Given the description of an element on the screen output the (x, y) to click on. 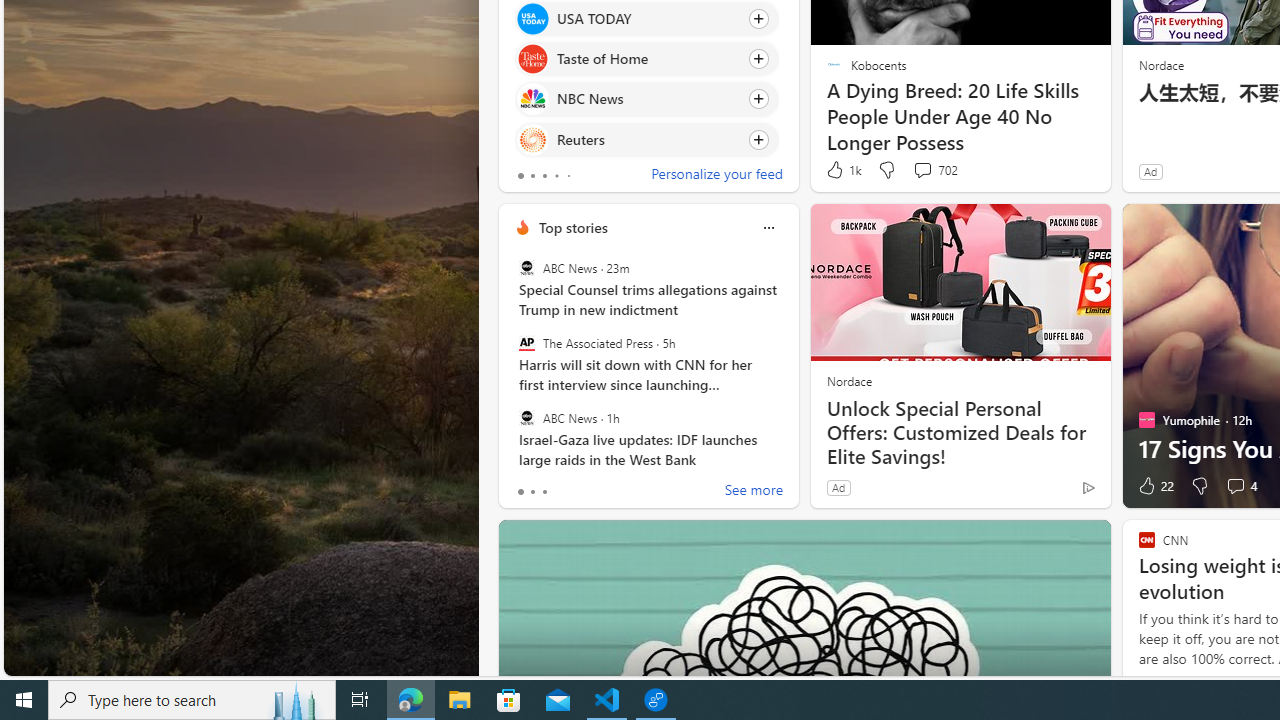
USA TODAY (532, 18)
tab-3 (556, 175)
Reuters (532, 139)
22 Like (1154, 485)
